Given the description of an element on the screen output the (x, y) to click on. 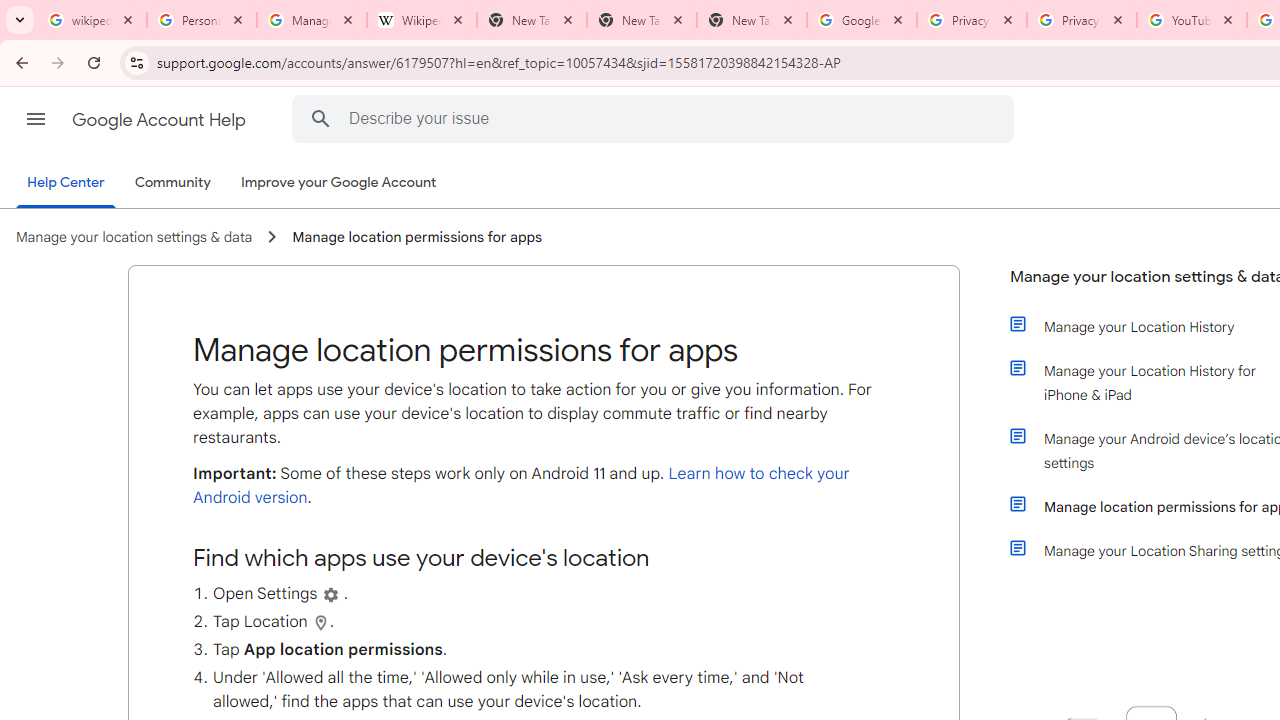
New Tab (642, 20)
Wikipedia:Edit requests - Wikipedia (422, 20)
YouTube (1191, 20)
Google Account Help (160, 119)
Describe your issue (655, 118)
Help Center (65, 183)
Manage your location settings & data (134, 237)
Manage your Location History - Google Search Help (312, 20)
Google Drive: Sign-in (861, 20)
Manage location permissions for apps (416, 237)
